Given the description of an element on the screen output the (x, y) to click on. 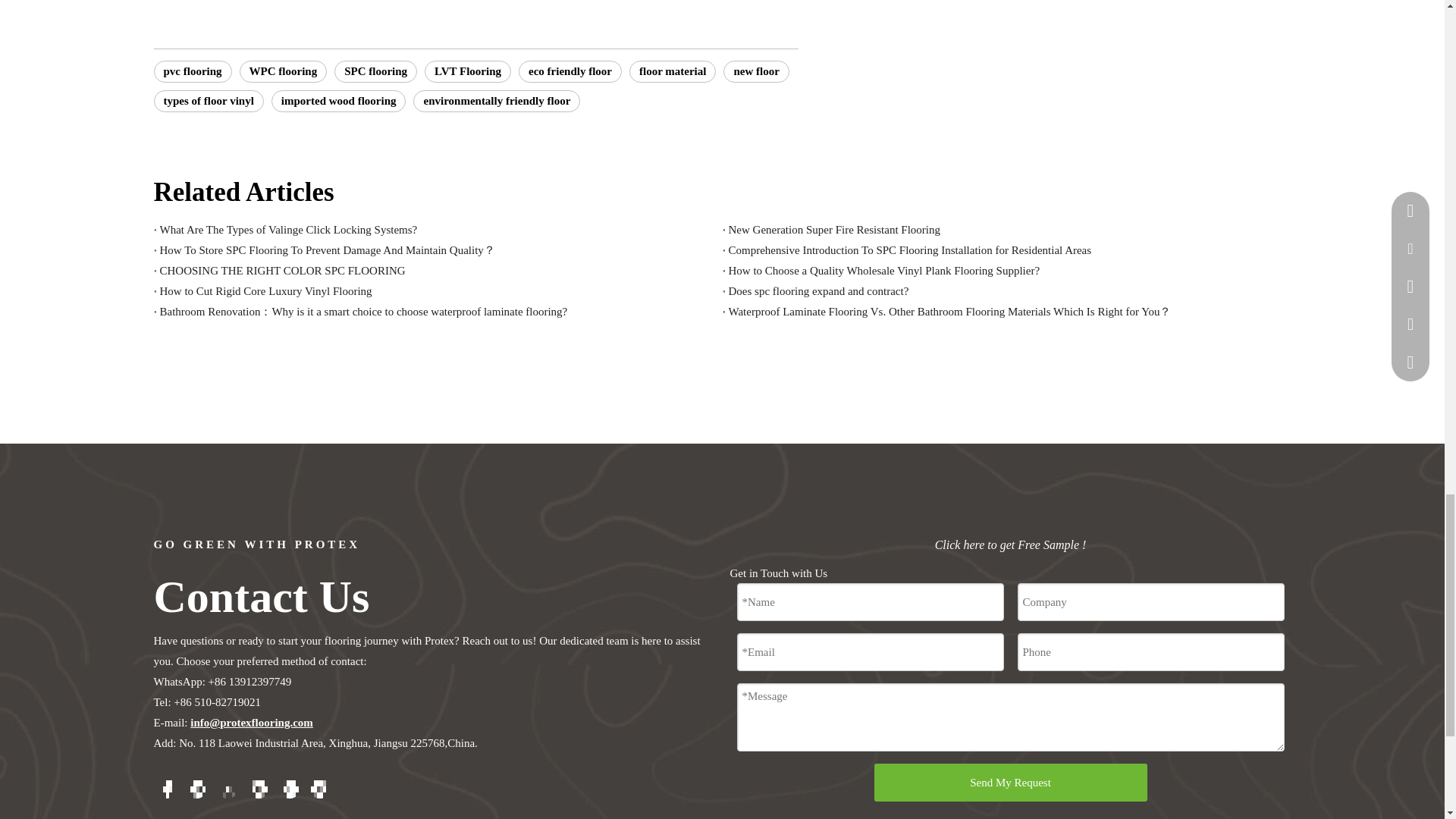
new floor (756, 71)
eco friendly floor (569, 71)
floor material (672, 71)
types of floor vinyl (207, 101)
WPC flooring (283, 71)
SPC flooring (375, 71)
LVT Flooring (468, 71)
pvc flooring (191, 71)
environmentally friendly floor (496, 101)
imported wood flooring (338, 101)
